Given the description of an element on the screen output the (x, y) to click on. 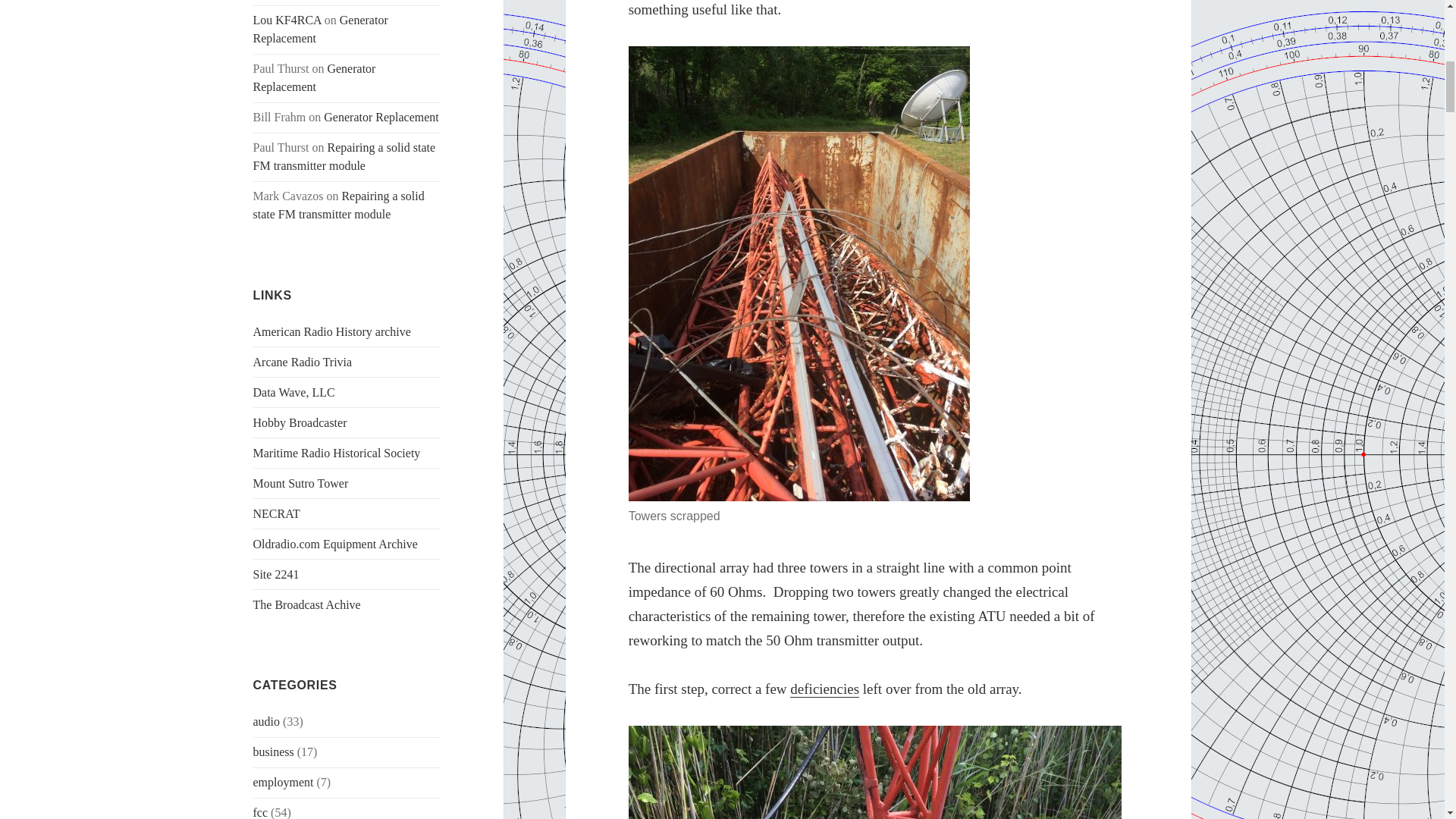
Oldradio.com Equipment Archive (335, 543)
Data Wave, LLC (293, 391)
Repairing a solid state FM transmitter module (339, 204)
Site 2241 (276, 574)
employment (283, 781)
audio (267, 721)
Maritime Radio Historical Society (336, 452)
American Radio History archive (331, 331)
Archive of US based radio publications (331, 331)
Generator Replacement (314, 77)
Generator Replacement (320, 29)
Generator Replacement (380, 116)
The Broadcast Achive (307, 604)
business (273, 751)
Repairing a solid state FM transmitter module (344, 155)
